Given the description of an element on the screen output the (x, y) to click on. 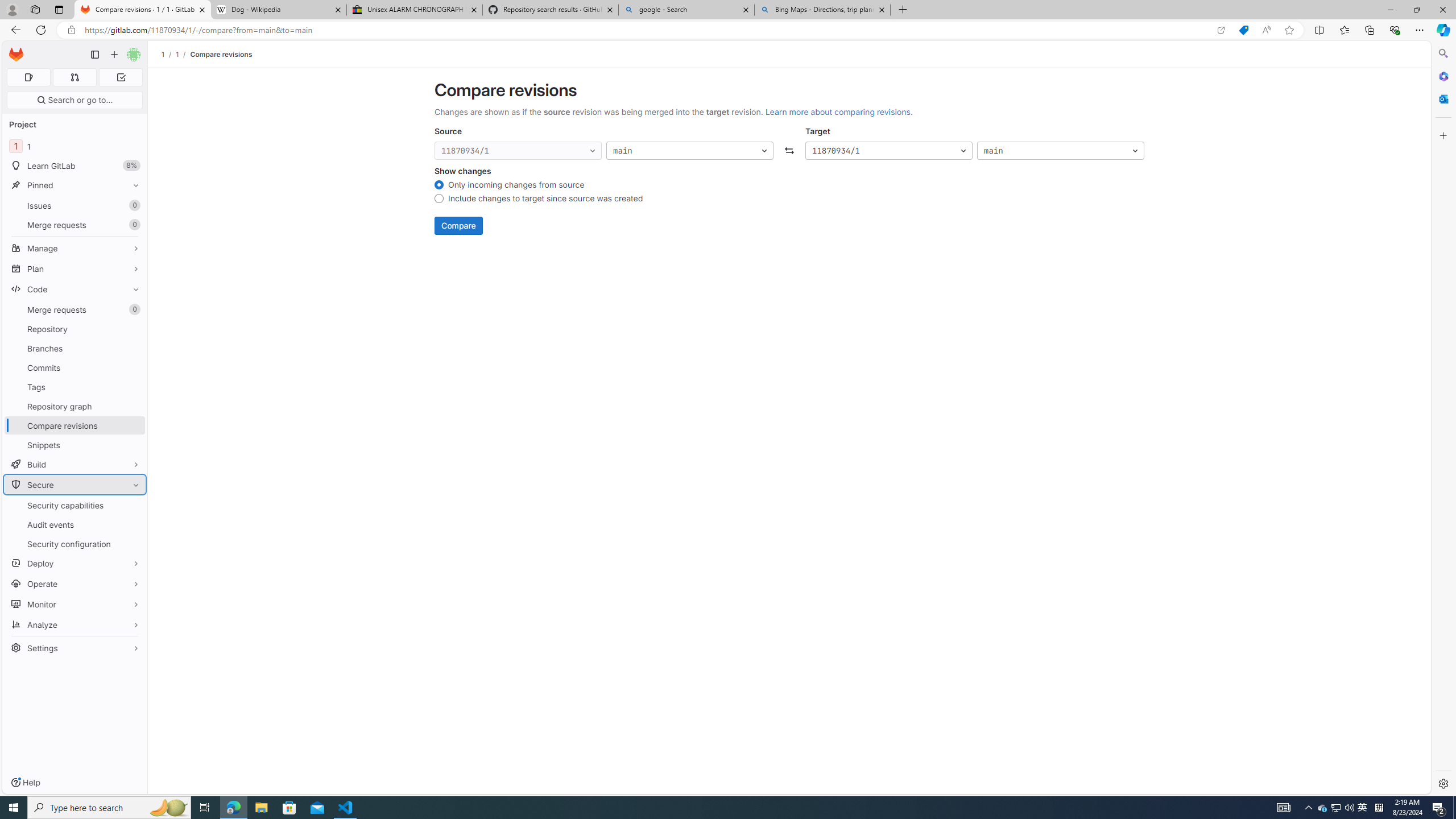
Security capabilities (74, 505)
Open in app (1220, 29)
Repository graph (74, 406)
Pin Security capabilities (132, 504)
Pin Repository graph (132, 406)
Unpin Merge requests (132, 309)
Pin Security configuration (132, 544)
Compare revisions (220, 53)
Pin Repository (132, 328)
